Given the description of an element on the screen output the (x, y) to click on. 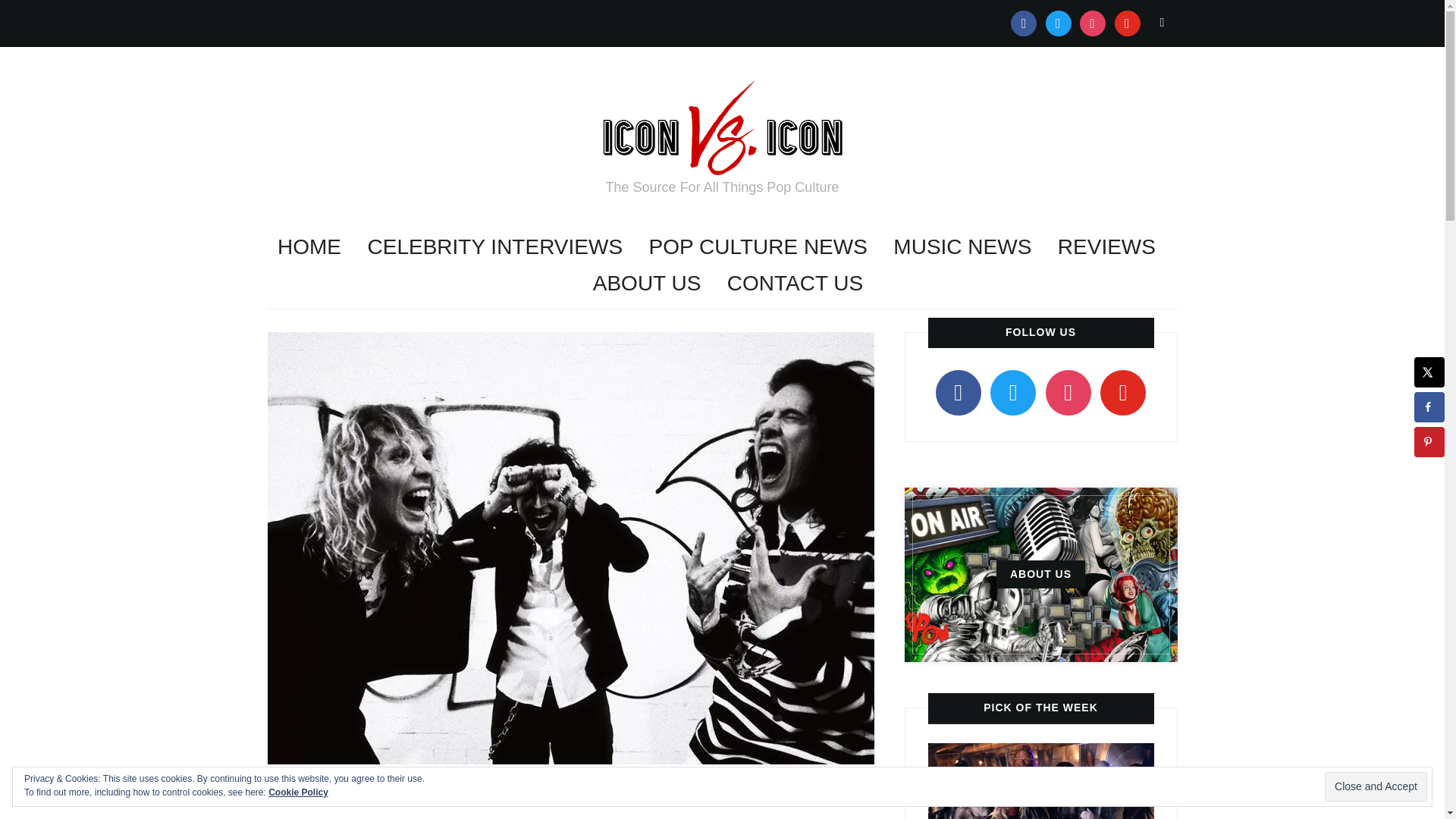
Contact Icon Vs. Icon (794, 283)
HOME (309, 247)
POP CULTURE NEWS (758, 247)
FACEBOOK (1023, 22)
MUSIC NEWS (961, 247)
ABOUT US (646, 283)
CELEBRITY INTERVIEWS (494, 247)
YOUTUBE (1127, 22)
INSTAGRAM (1092, 22)
Facebook (1023, 22)
